Given the description of an element on the screen output the (x, y) to click on. 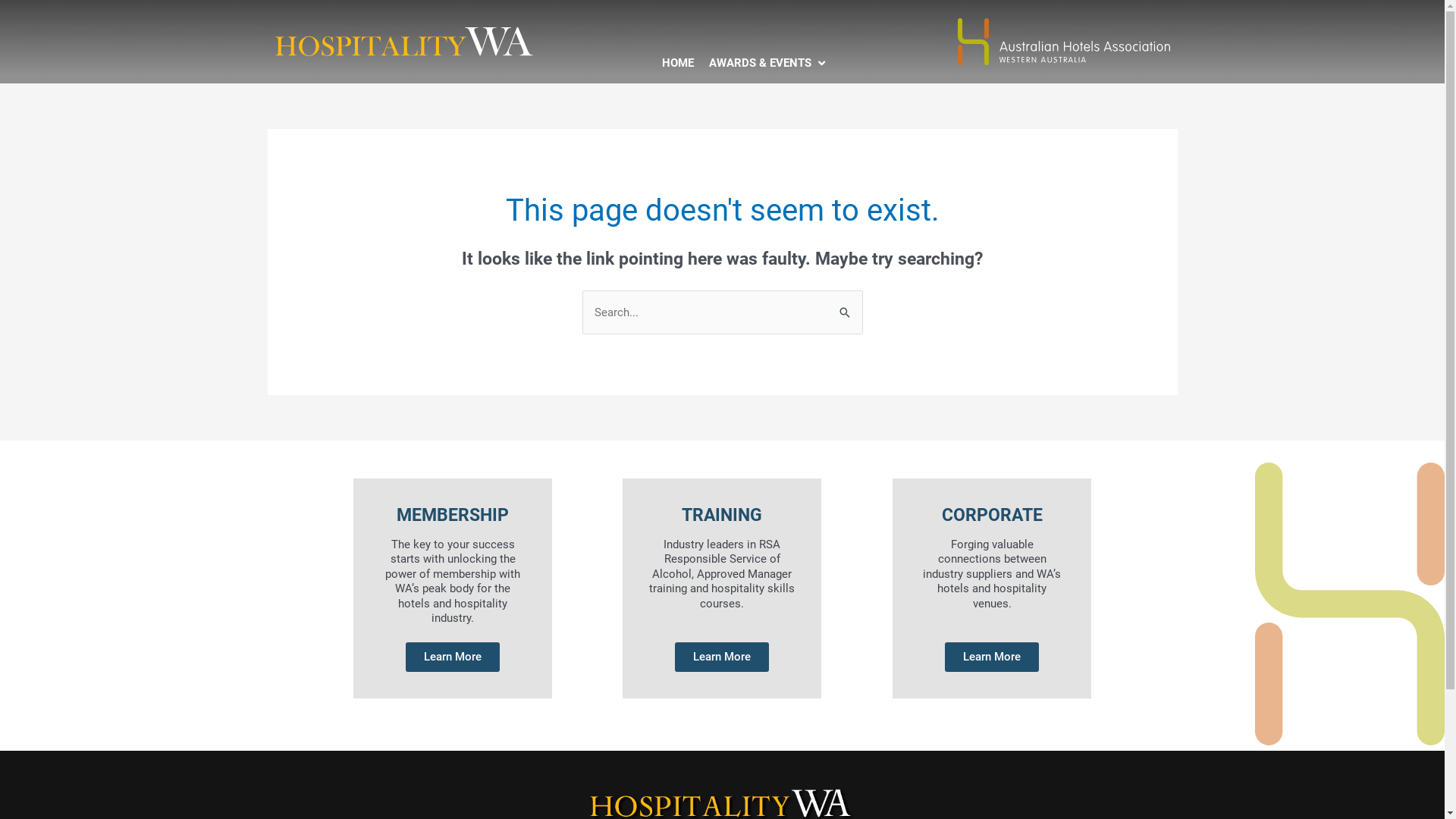
HOME Element type: text (677, 62)
Learn More Element type: text (721, 656)
Learn More Element type: text (991, 656)
Learn More Element type: text (452, 656)
Search Element type: text (845, 310)
AWARDS & EVENTS Element type: text (759, 62)
